Given the description of an element on the screen output the (x, y) to click on. 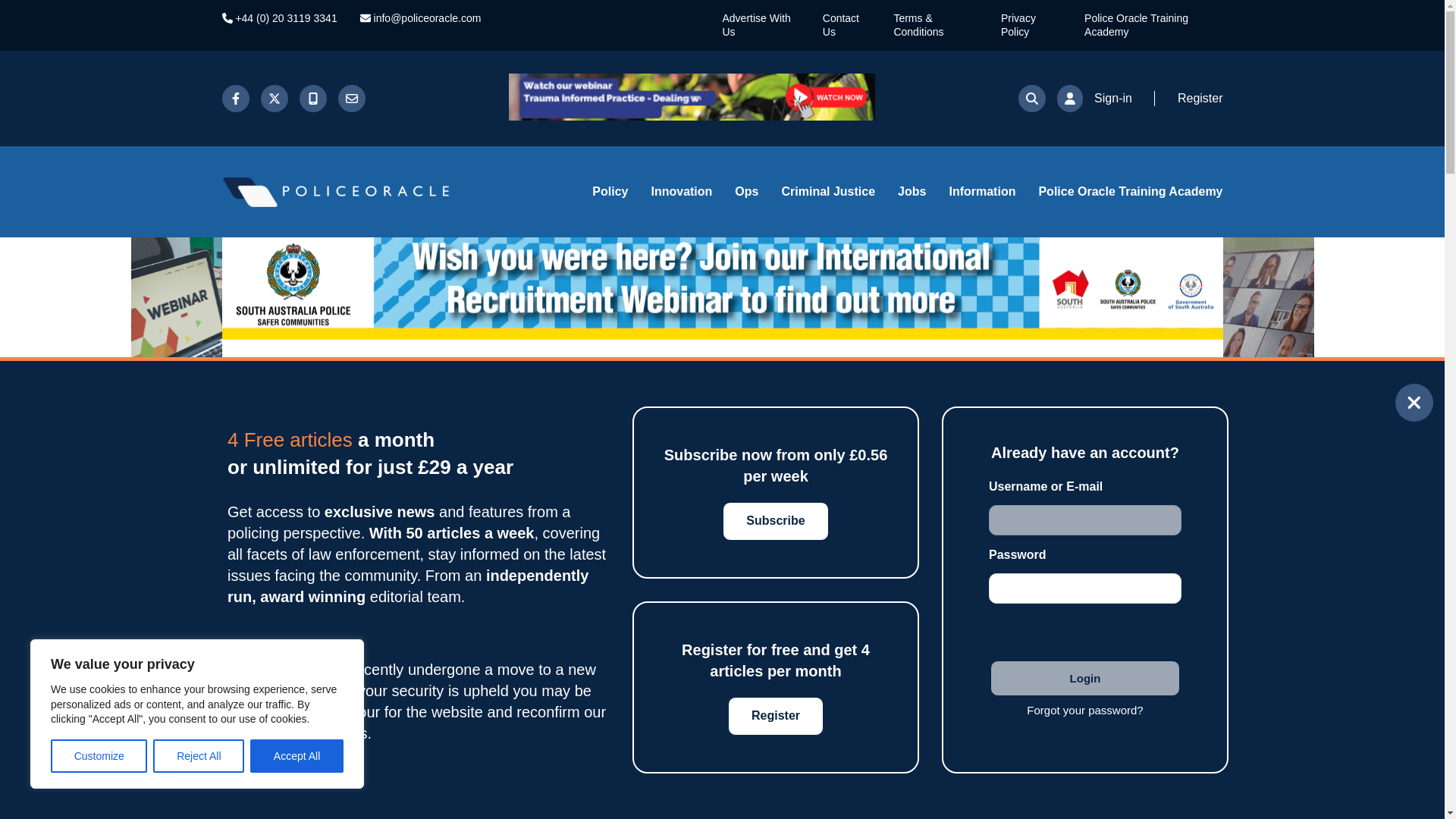
Email (351, 98)
Privacy Policy (1018, 24)
Home (372, 191)
Phone (312, 98)
Customize (98, 756)
Police Oracle Training Academy (1136, 24)
Reject All (198, 756)
Register (1194, 98)
Advertise With Us (756, 24)
Contact Us (840, 24)
Twitter (274, 98)
Login (1084, 678)
E-mail (420, 18)
Phone (278, 18)
Facebook (234, 98)
